Given the description of an element on the screen output the (x, y) to click on. 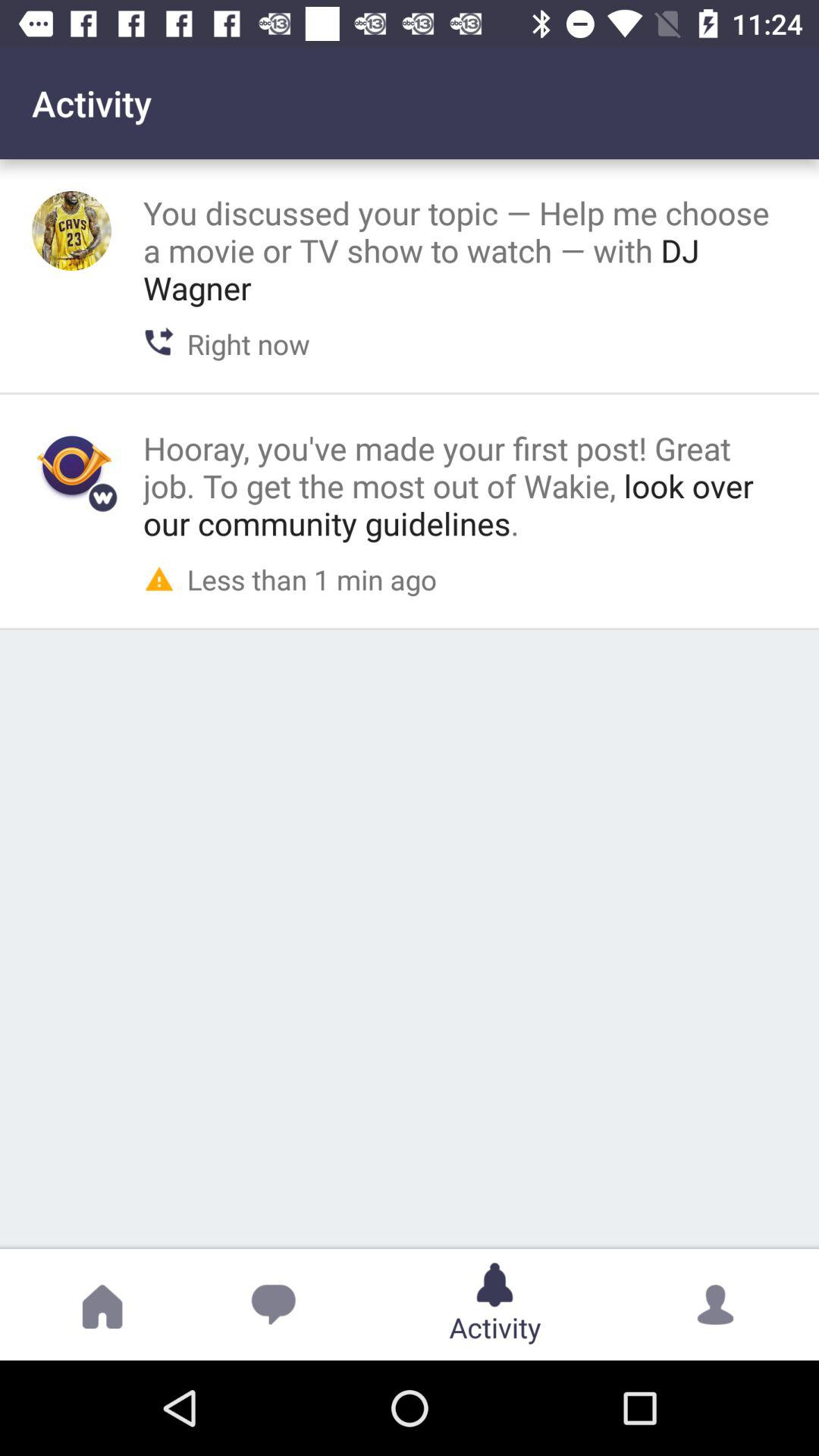
enter website (71, 466)
